Given the description of an element on the screen output the (x, y) to click on. 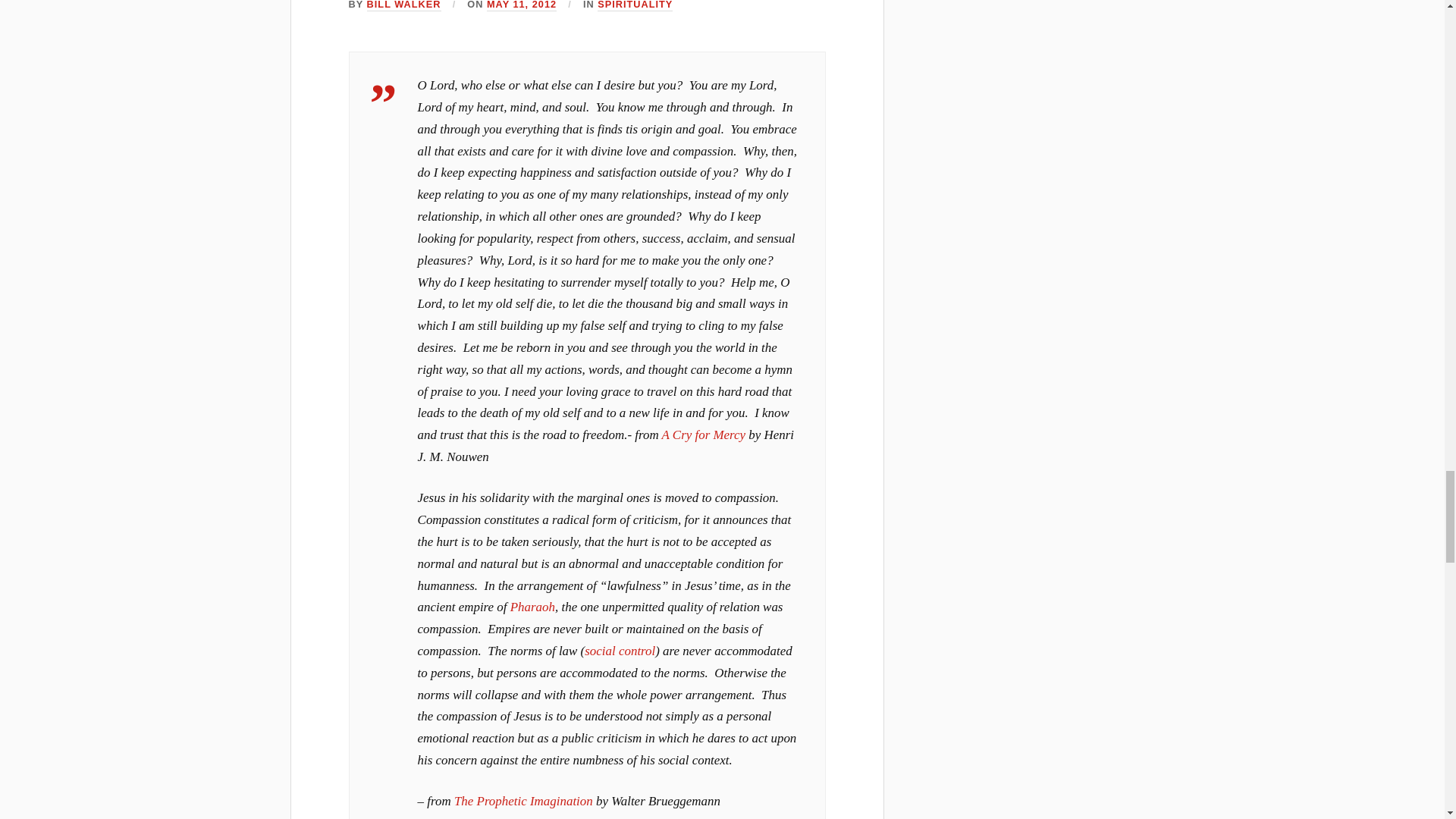
Posts by Bill Walker (403, 5)
Pharaoh (532, 606)
A Cry for Mercy: Prayers from the Genesee (703, 434)
Walter Brueggemann (523, 800)
Social control (620, 650)
